Given the description of an element on the screen output the (x, y) to click on. 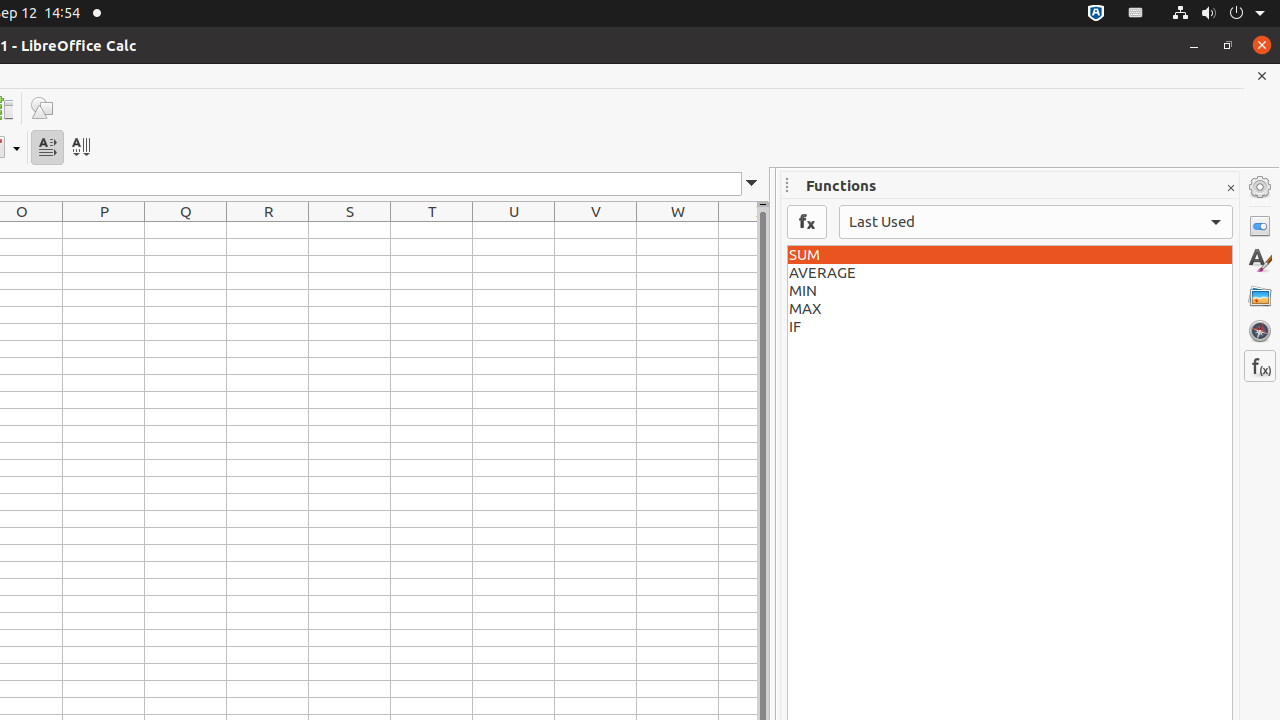
AVERAGE Element type: list-item (1010, 273)
Gallery Element type: radio-button (1260, 296)
T1 Element type: table-cell (432, 230)
Navigator Element type: radio-button (1260, 331)
Close Sidebar Deck Element type: push-button (1230, 188)
